Given the description of an element on the screen output the (x, y) to click on. 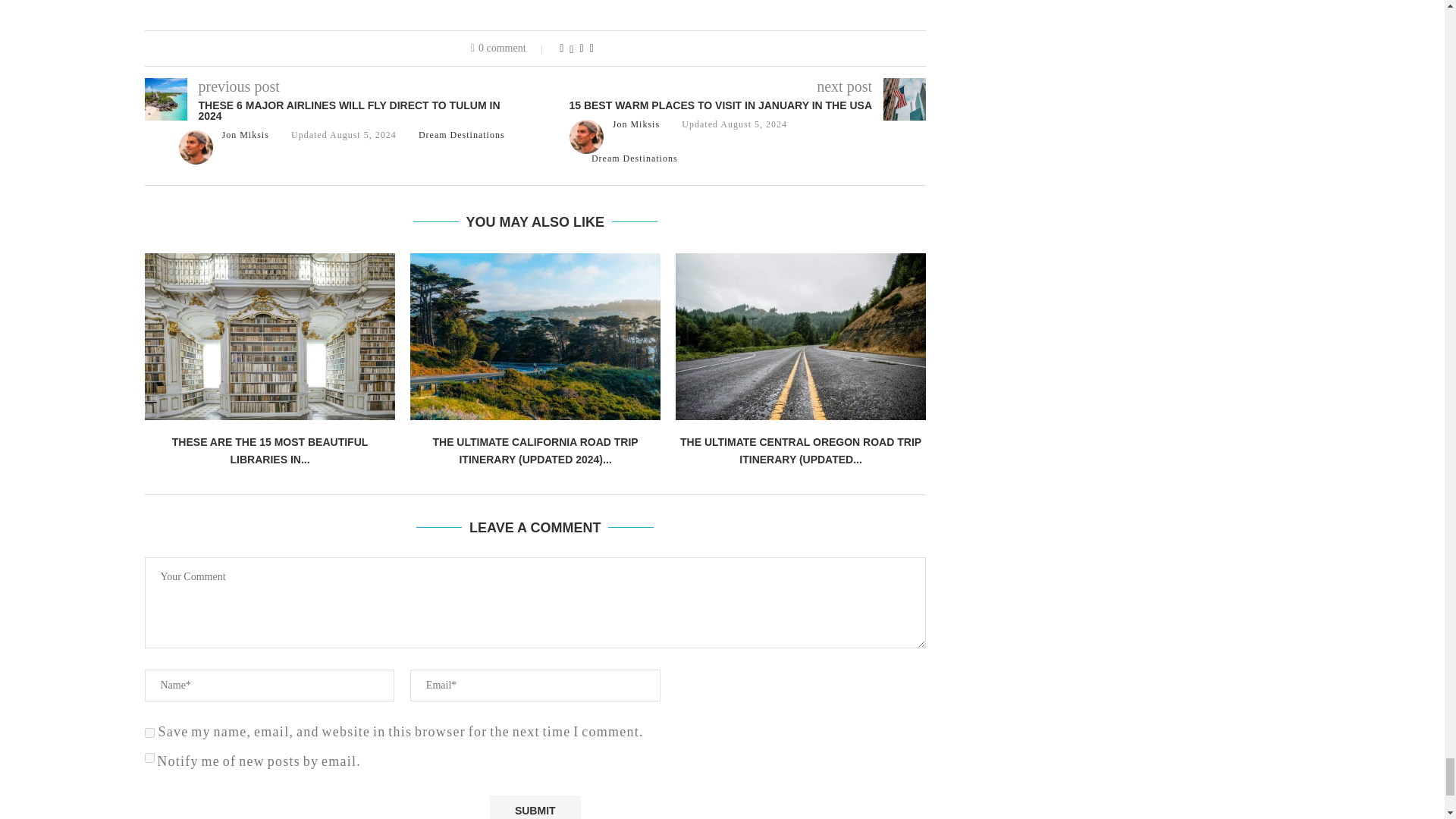
yes (149, 732)
Submit (534, 807)
subscribe (149, 757)
